Given the description of an element on the screen output the (x, y) to click on. 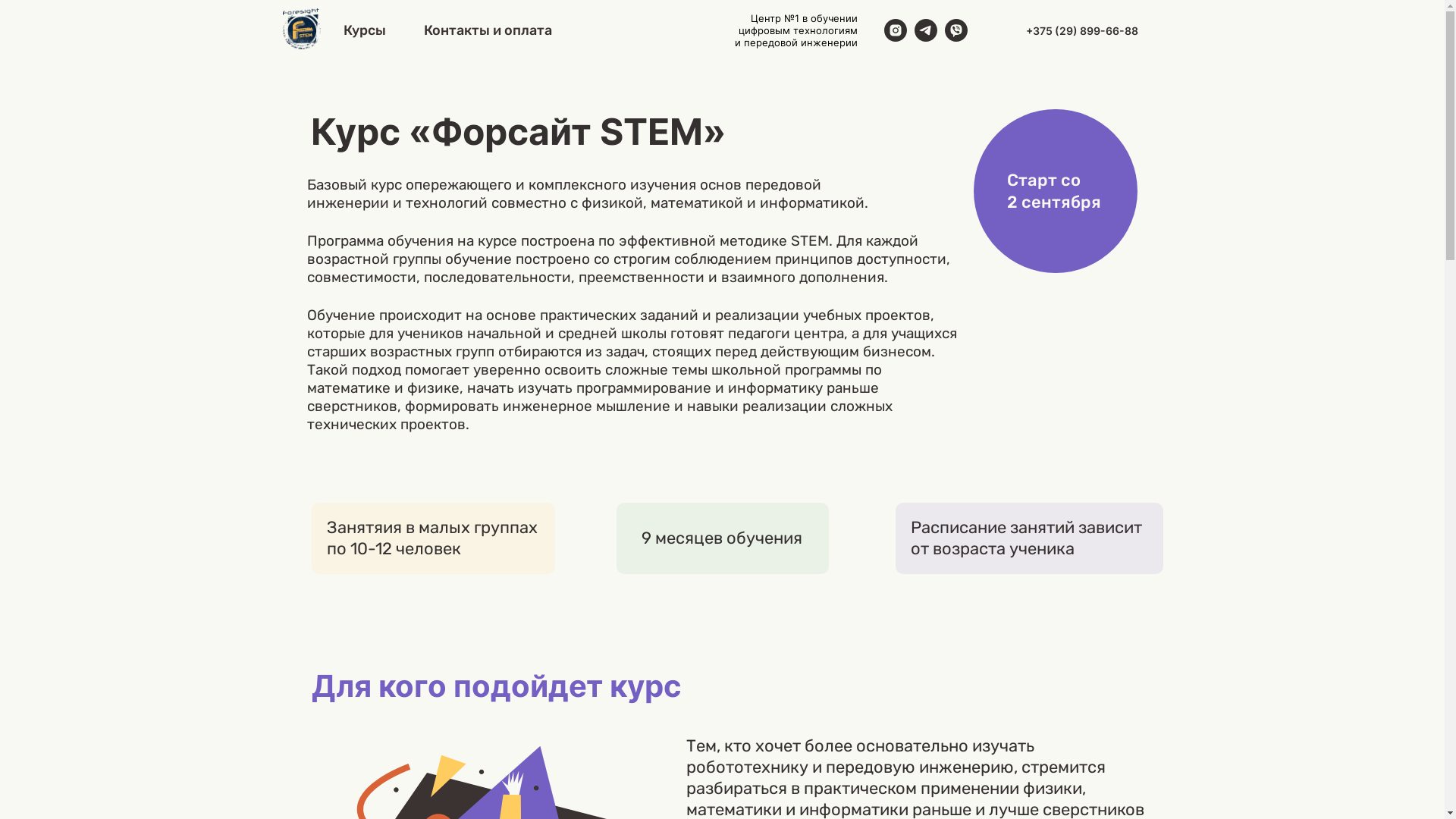
+375 (29) 899-66-88 Element type: text (1081, 30)
